Given the description of an element on the screen output the (x, y) to click on. 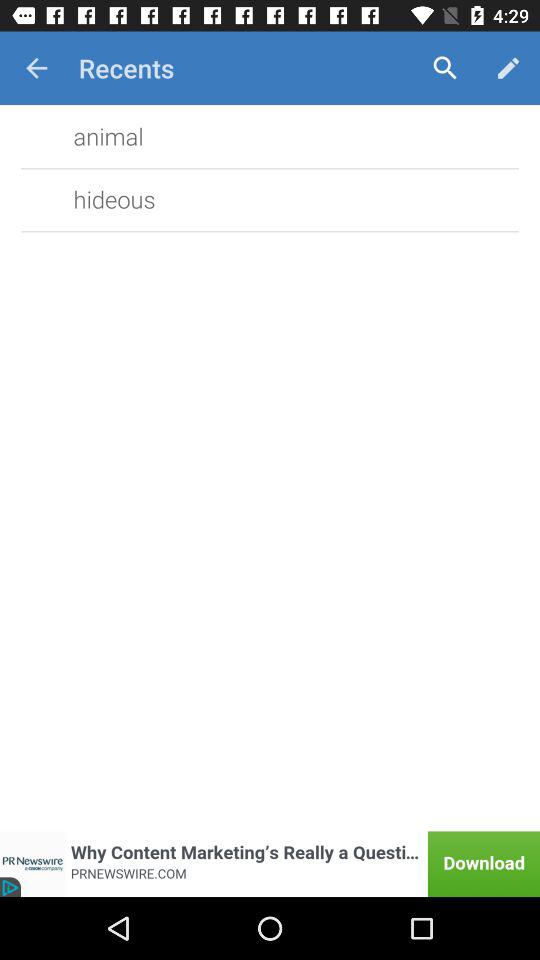
turn off the item below the hideous item (270, 863)
